Given the description of an element on the screen output the (x, y) to click on. 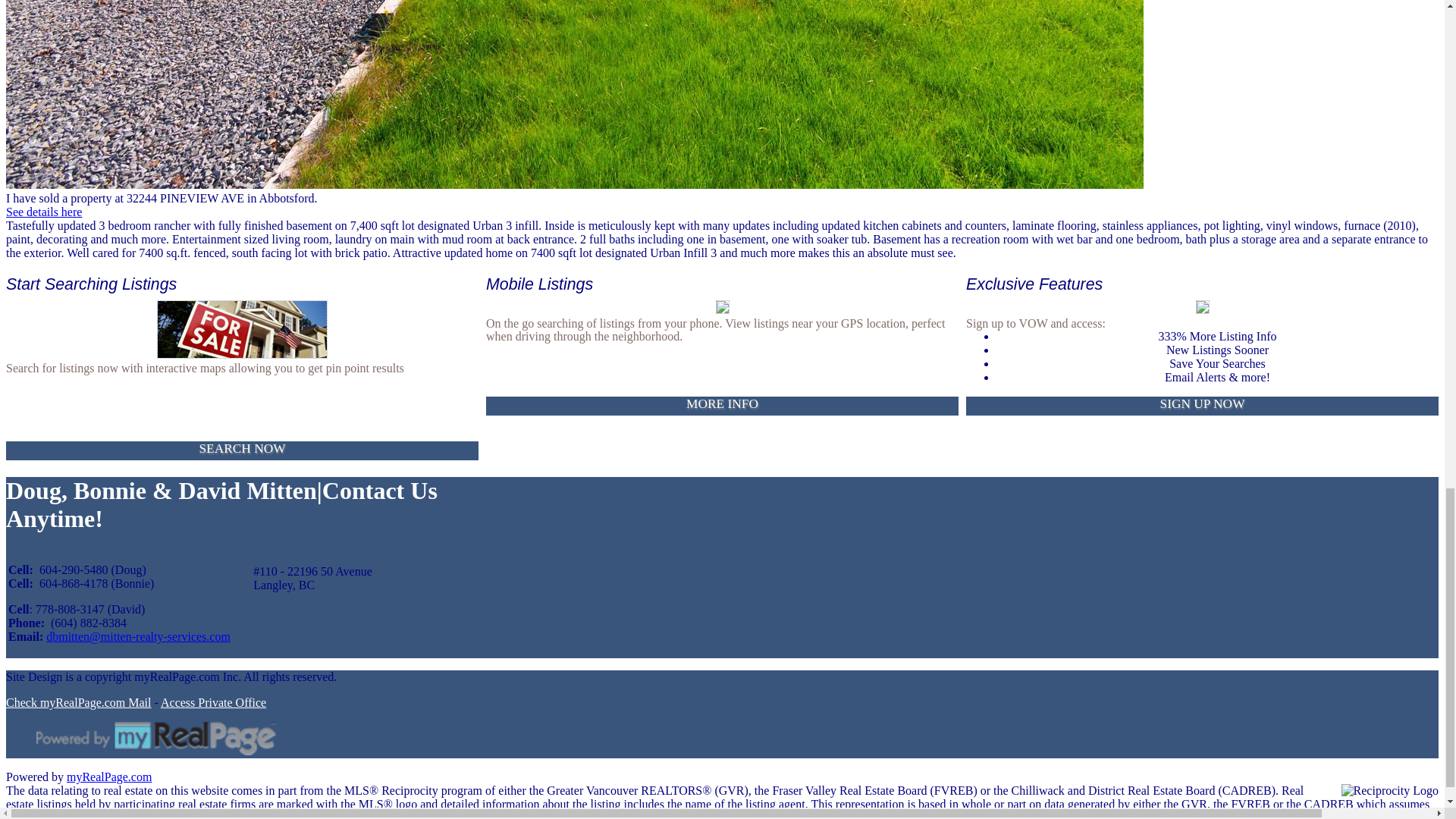
SEARCH NOW (242, 450)
MORE INFO (722, 405)
See details here (43, 211)
Access Private Office (213, 702)
SIGN UP NOW (1202, 405)
myRealPage.com (108, 776)
Check myRealPage.com Mail (78, 702)
